Given the description of an element on the screen output the (x, y) to click on. 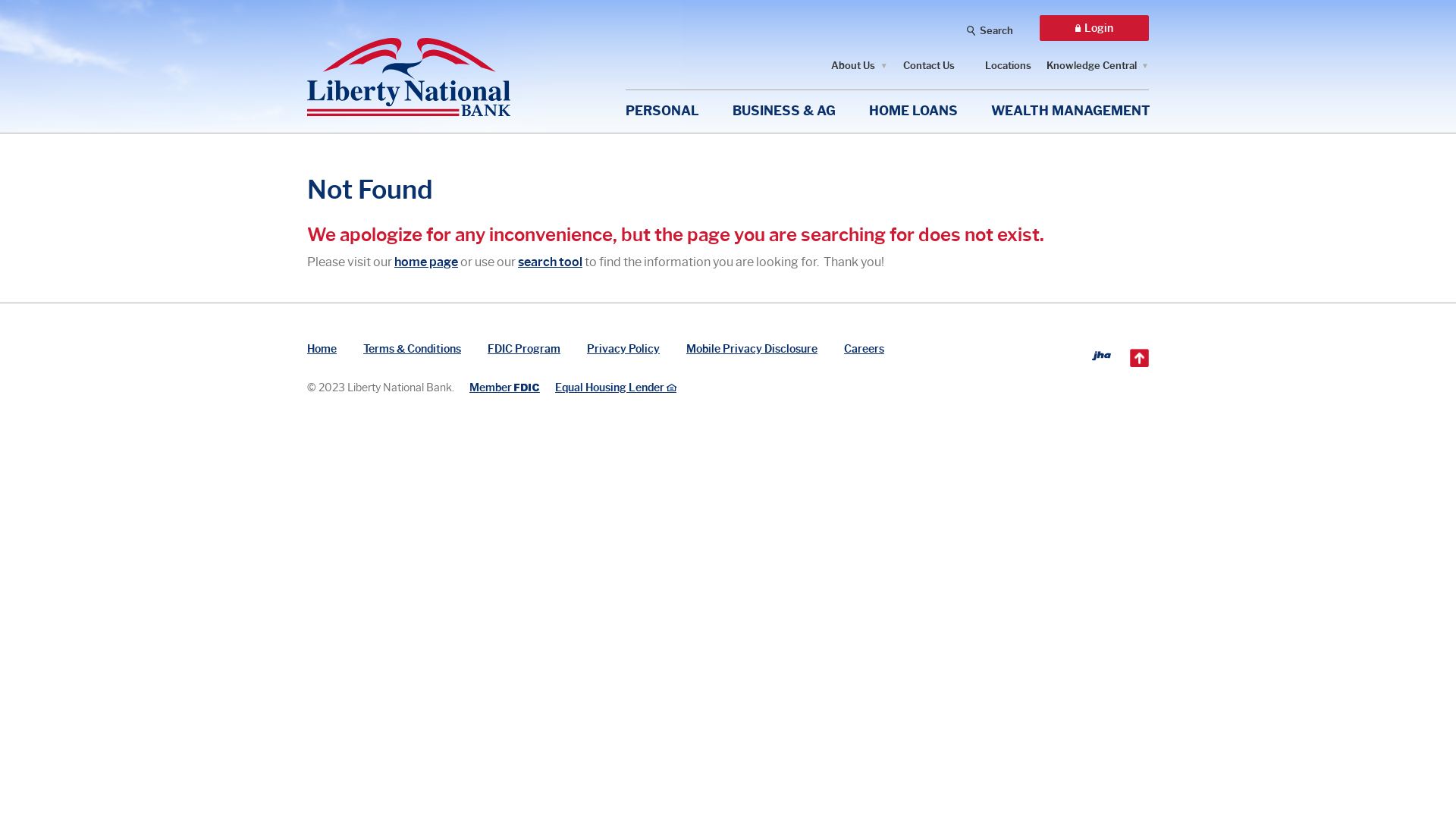
Liberty National Bank, Sioux City, IA Element type: hover (408, 65)
Locations Element type: text (1007, 65)
Search Element type: text (989, 28)
Login Element type: text (1093, 27)
Member
FDIC Element type: text (504, 386)
Contact Us Element type: text (928, 65)
Privacy Policy Element type: text (622, 348)
home page Element type: text (426, 261)
Created by Banno Element type: text (1101, 355)
Mobile Privacy Disclosure Element type: text (751, 348)
Terms & Conditions Element type: text (412, 348)
Equal Housing Lender Element type: text (615, 386)
Home Element type: text (321, 348)
Careers Element type: text (864, 348)
FDIC Program Element type: text (523, 348)
search tool Element type: text (549, 261)
